Given the description of an element on the screen output the (x, y) to click on. 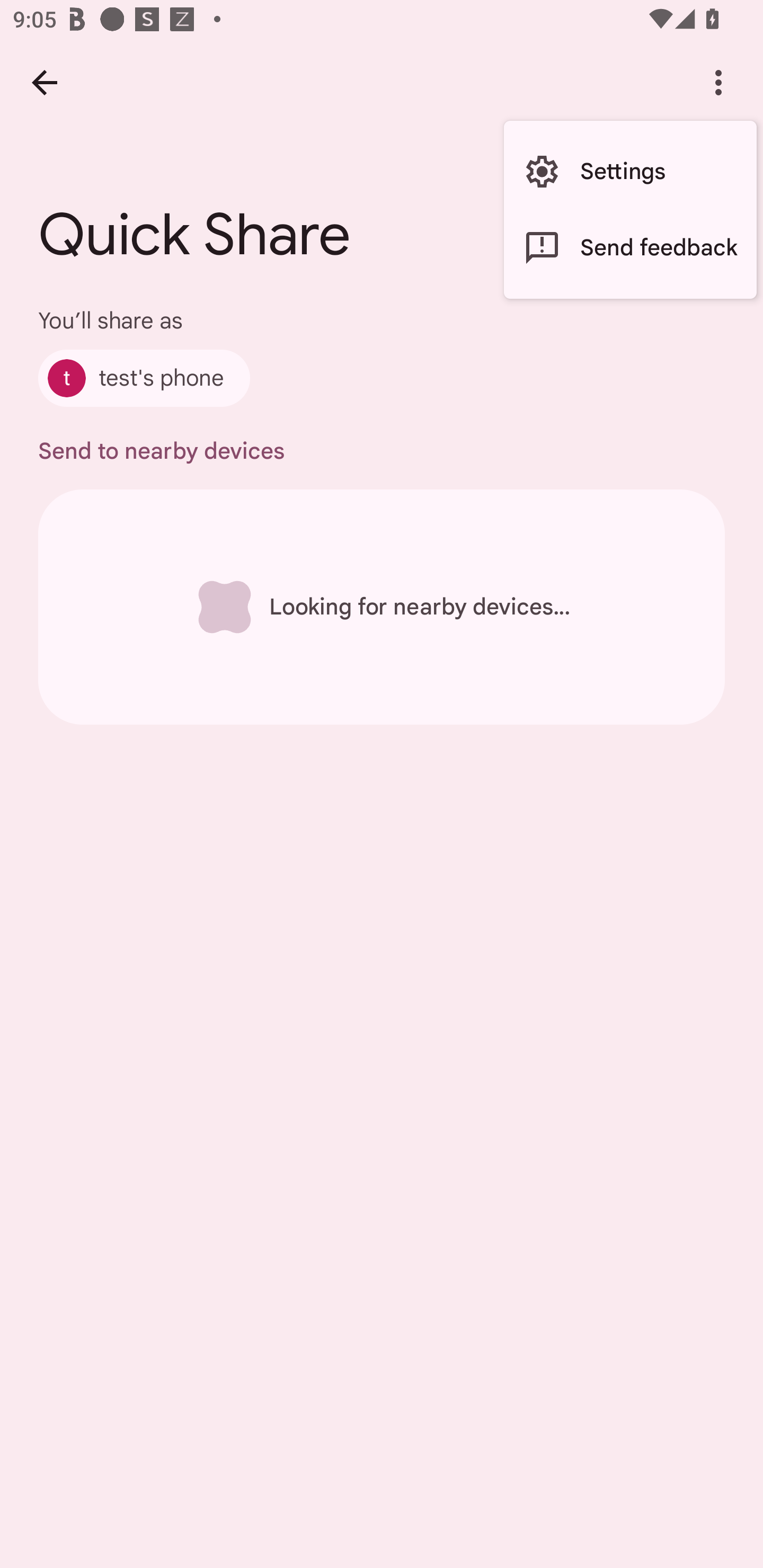
Settings (629, 171)
Send feedback (629, 247)
